Given the description of an element on the screen output the (x, y) to click on. 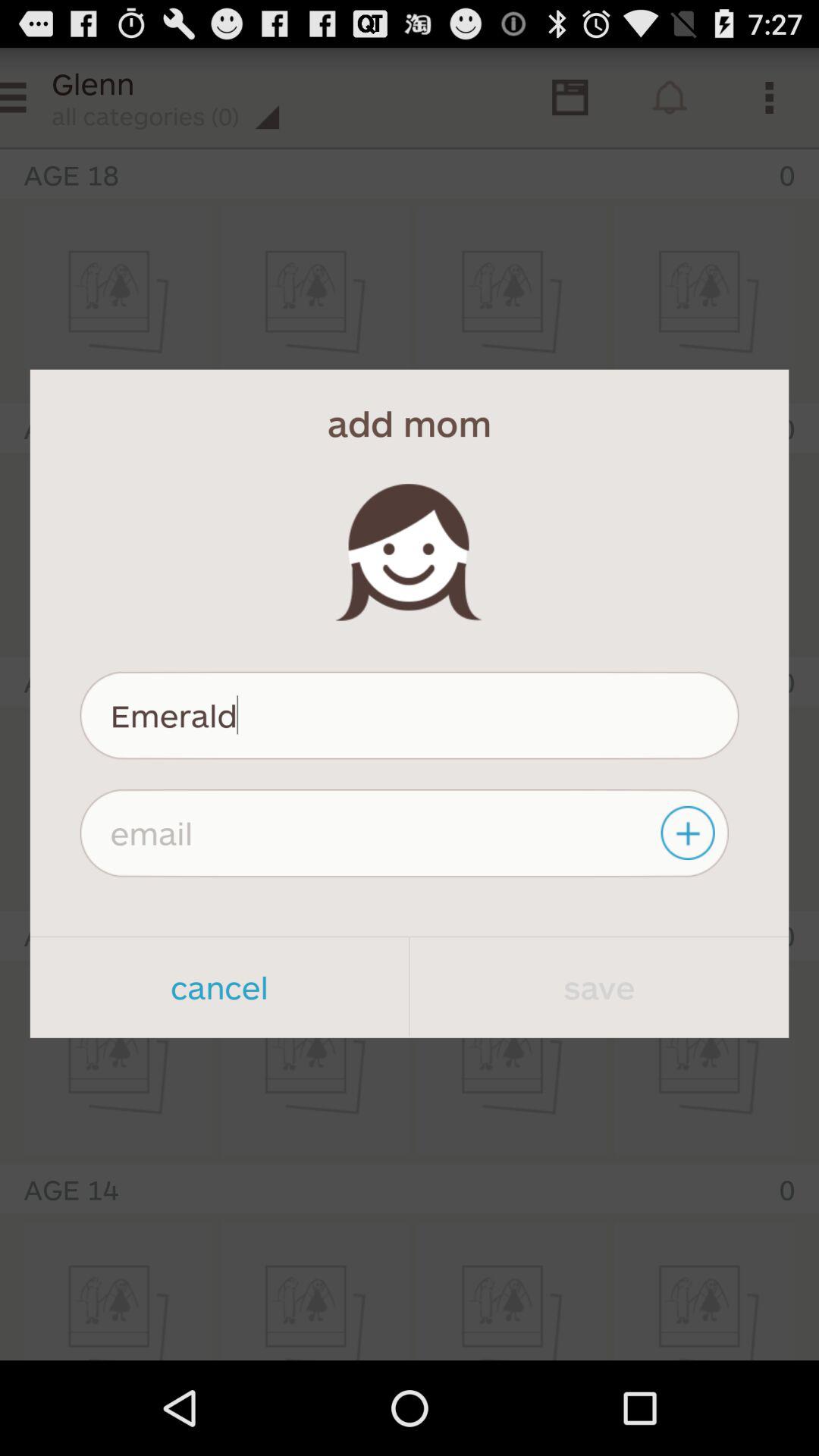
insert mail (404, 833)
